Given the description of an element on the screen output the (x, y) to click on. 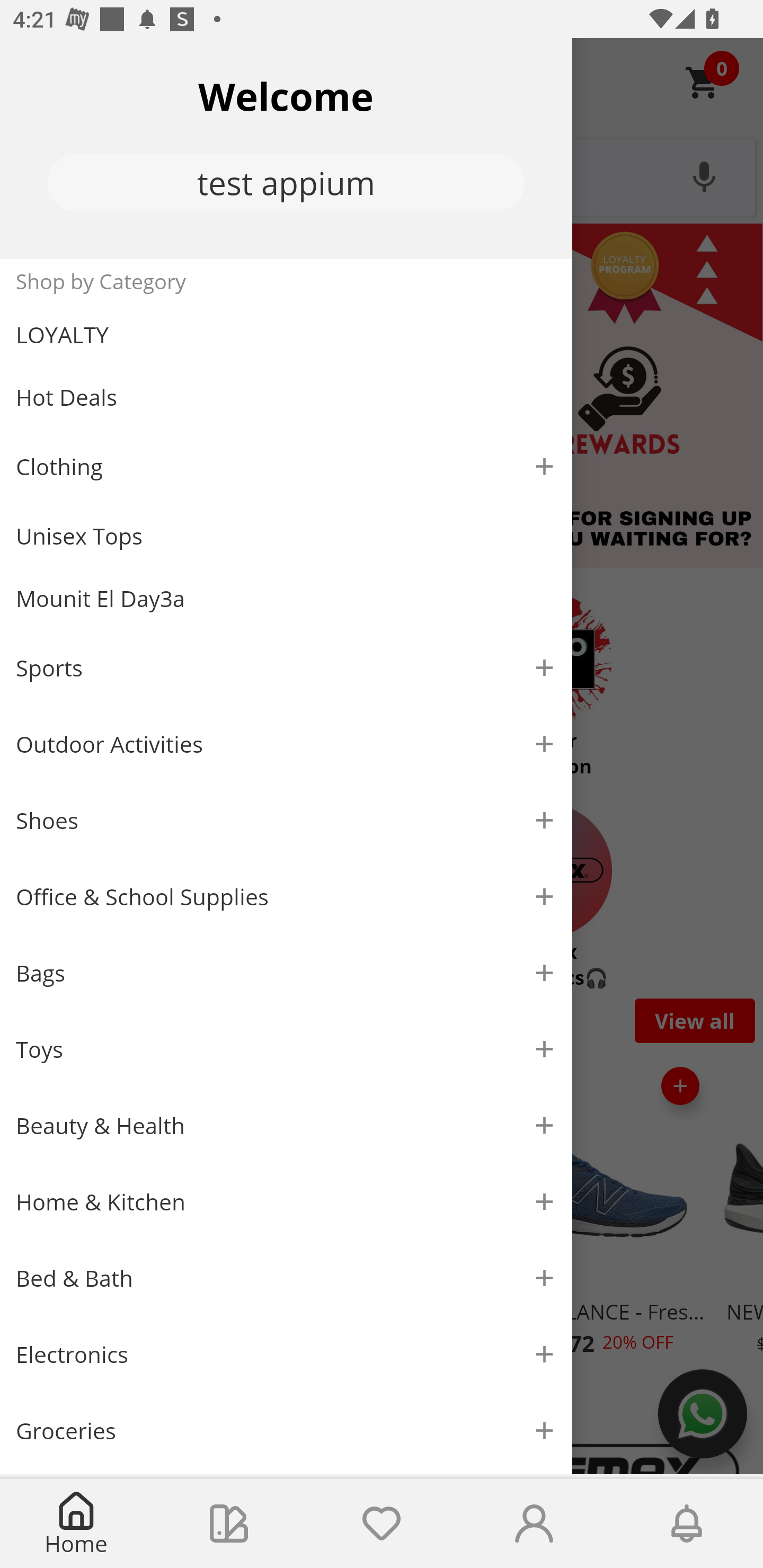
Welcome test appium (286, 147)
What are you looking for? (381, 175)
LOYALTY (286, 334)
Hot Deals (286, 396)
Clothing (286, 466)
Unisex Tops (286, 535)
Mounit El Day3a (286, 598)
Sports (286, 667)
Outdoor Activities (286, 743)
Shoes (286, 820)
Office & School Supplies (286, 896)
Bags (286, 972)
Toys (286, 1049)
Beauty & Health (286, 1125)
Home & Kitchen (286, 1201)
Bed & Bath (286, 1278)
Electronics (286, 1354)
Groceries (286, 1430)
Collections (228, 1523)
Wishlist (381, 1523)
Account (533, 1523)
Notifications (686, 1523)
